Given the description of an element on the screen output the (x, y) to click on. 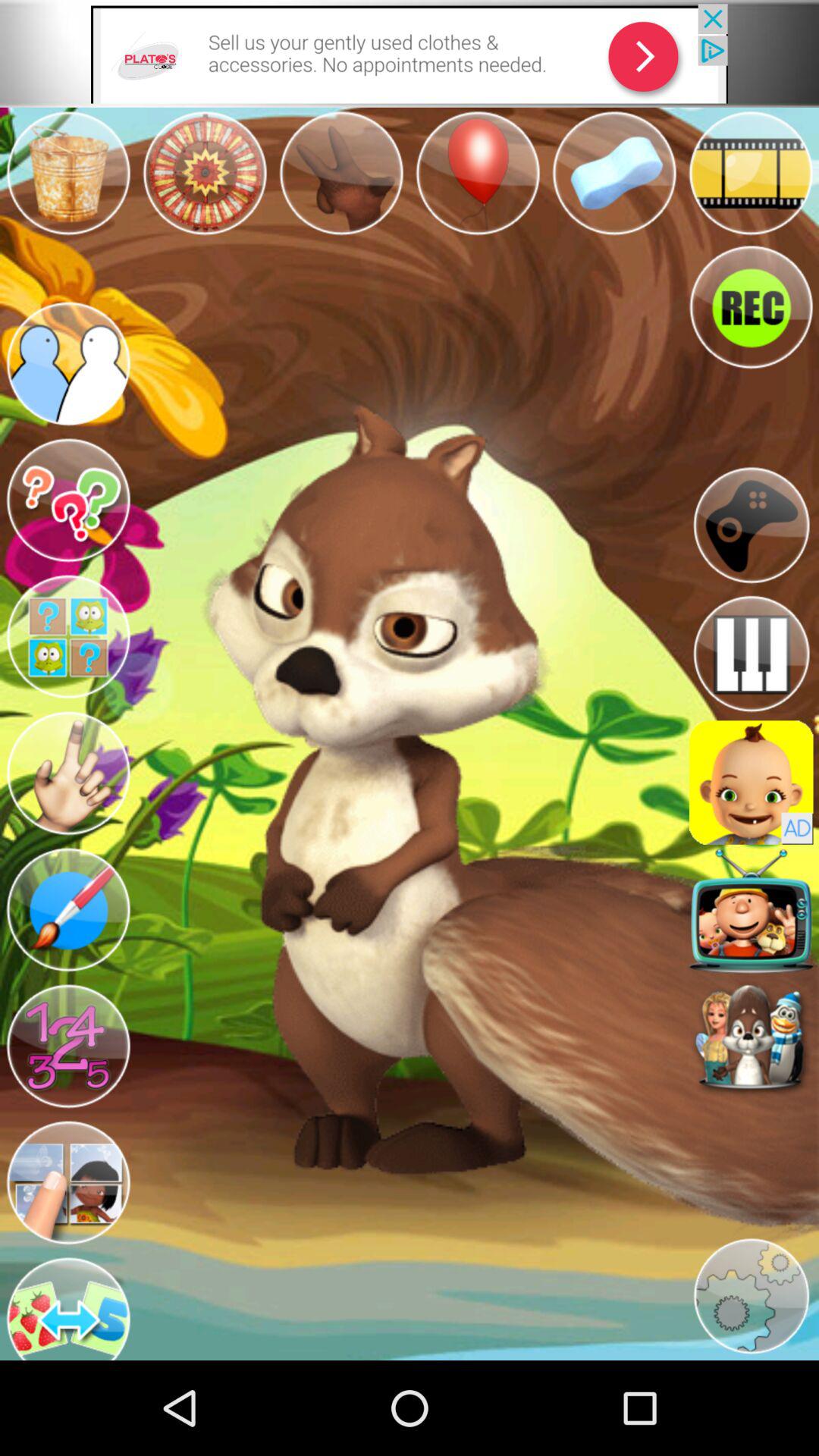
hit the piano option (751, 653)
